Given the description of an element on the screen output the (x, y) to click on. 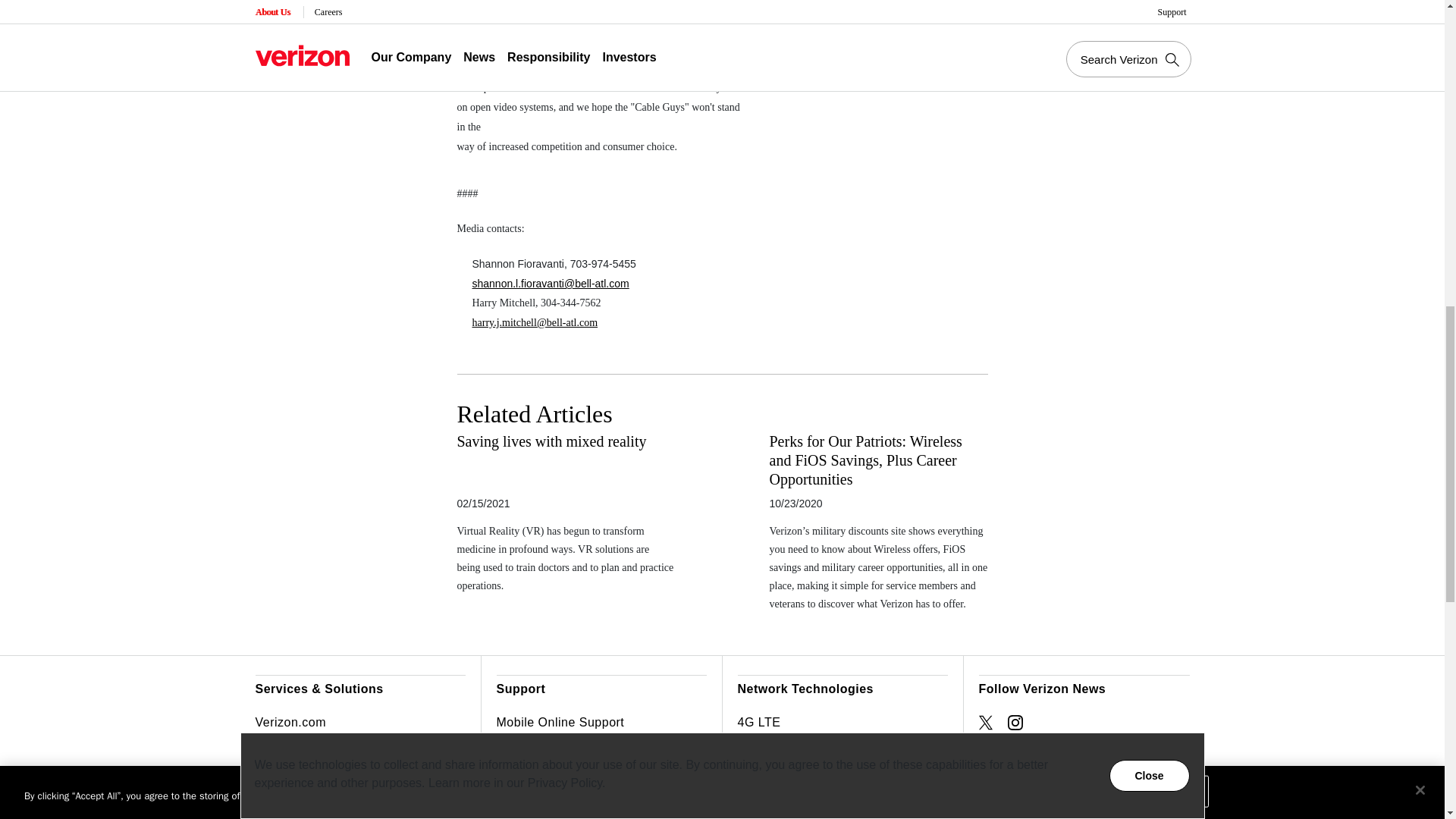
Opens New Window (985, 722)
Opens New Window (1014, 722)
